Given the description of an element on the screen output the (x, y) to click on. 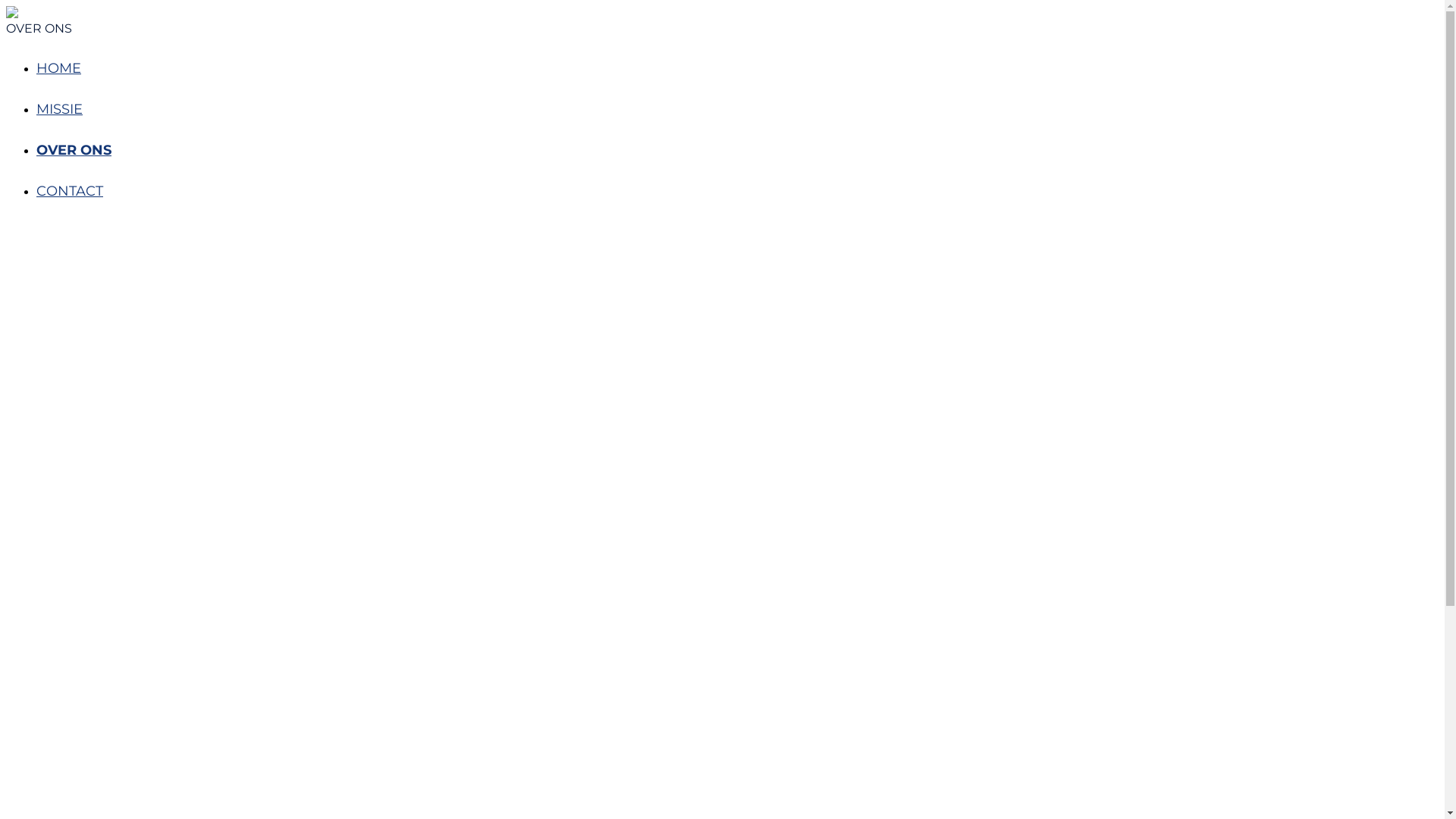
CONTACT Element type: text (69, 190)
OVER ONS Element type: text (73, 149)
MISSIE Element type: text (59, 108)
HOME Element type: text (58, 67)
